Given the description of an element on the screen output the (x, y) to click on. 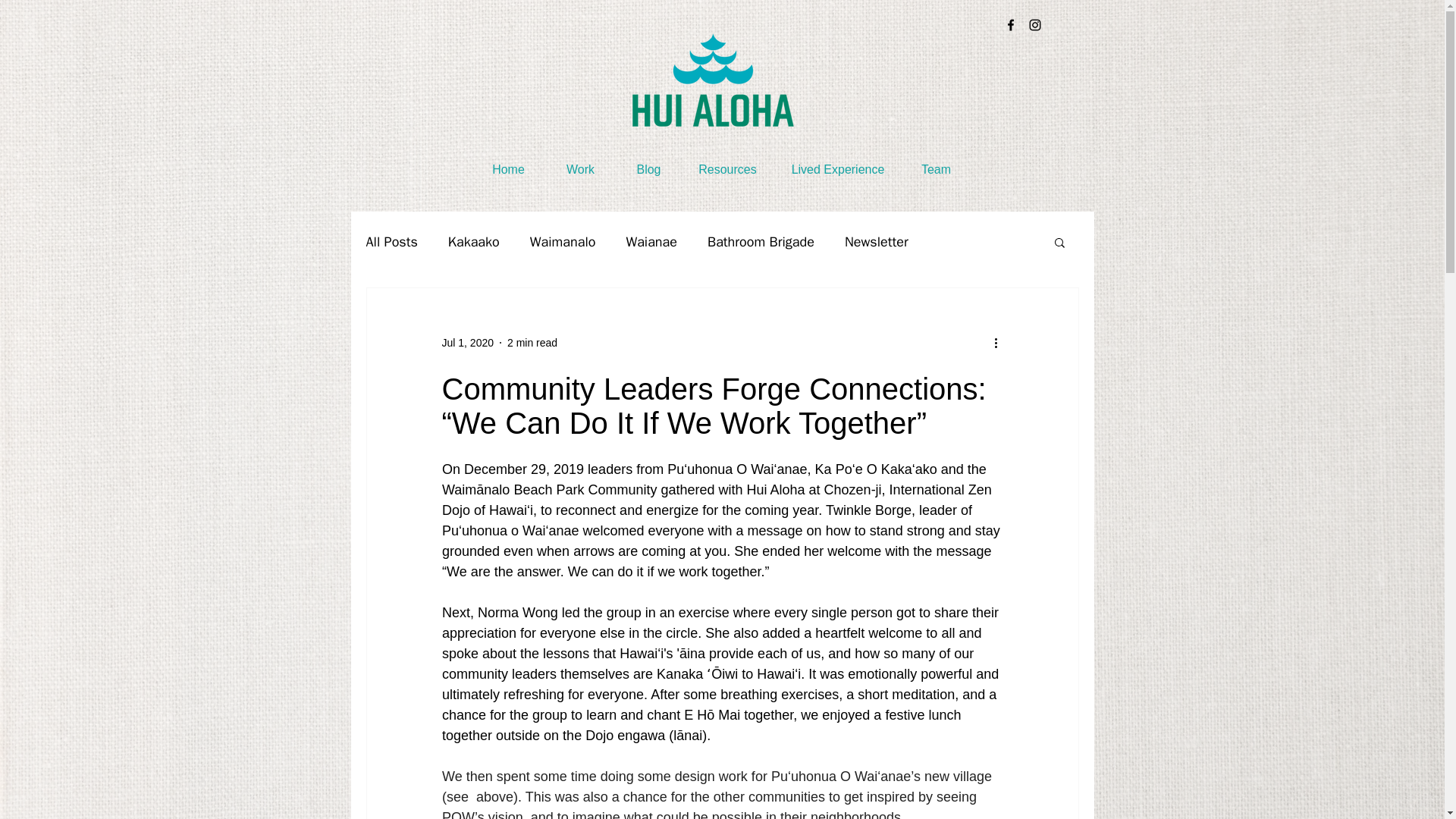
All Posts (390, 241)
Work (579, 169)
Home (507, 169)
Waimanalo (562, 241)
Resources (727, 169)
Kakaako (473, 241)
Bathroom Brigade (760, 241)
Newsletter (876, 241)
Team (936, 169)
Waianae (651, 241)
2 min read (531, 342)
Lived Experience (837, 169)
Jul 1, 2020 (467, 342)
Blog (648, 169)
